Given the description of an element on the screen output the (x, y) to click on. 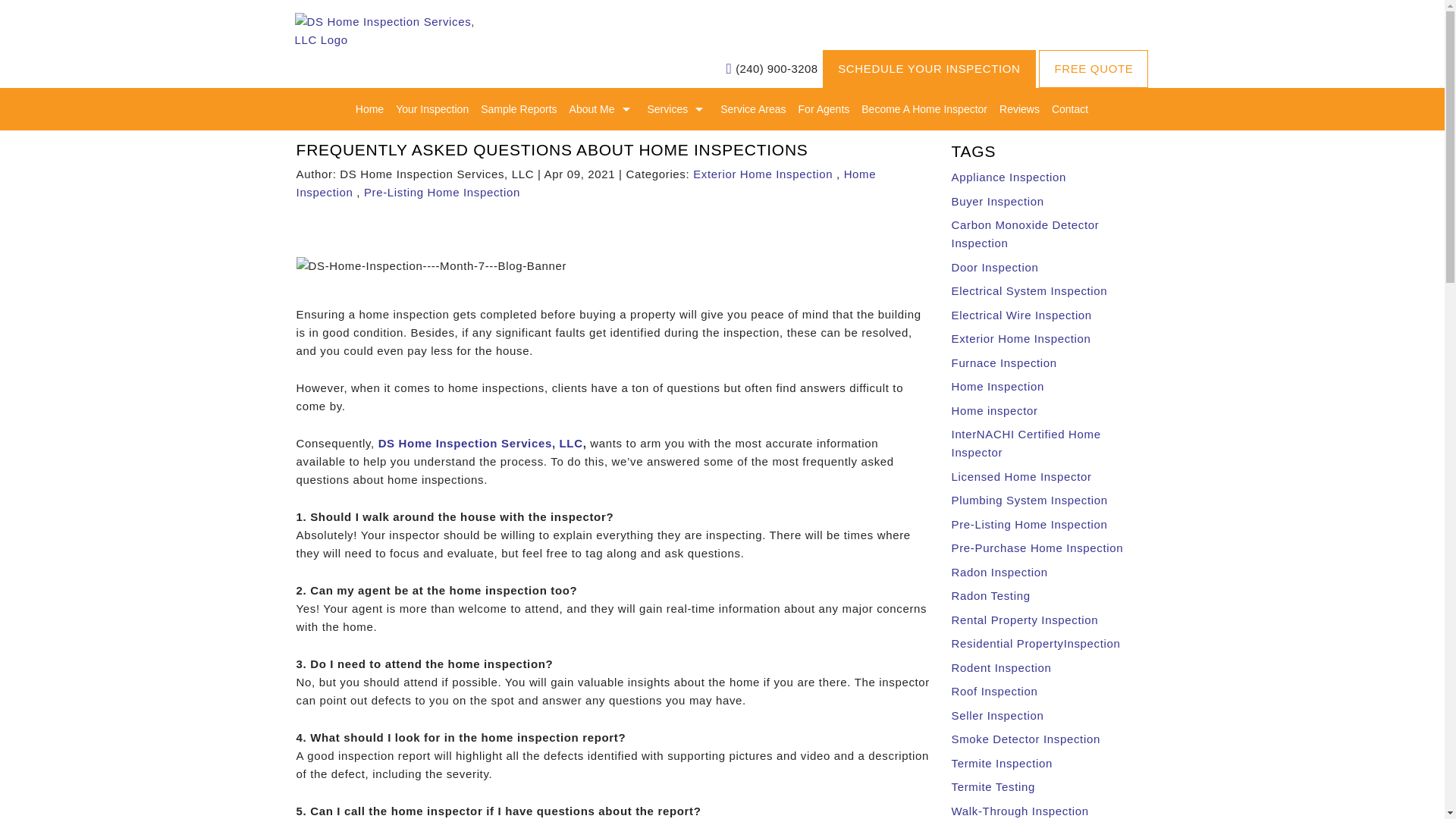
Sample Reports (518, 108)
Services (678, 108)
About Me (602, 108)
Your Inspection (432, 108)
FREE QUOTE (1093, 68)
SCHEDULE YOUR INSPECTION (928, 68)
Home (369, 108)
